Given the description of an element on the screen output the (x, y) to click on. 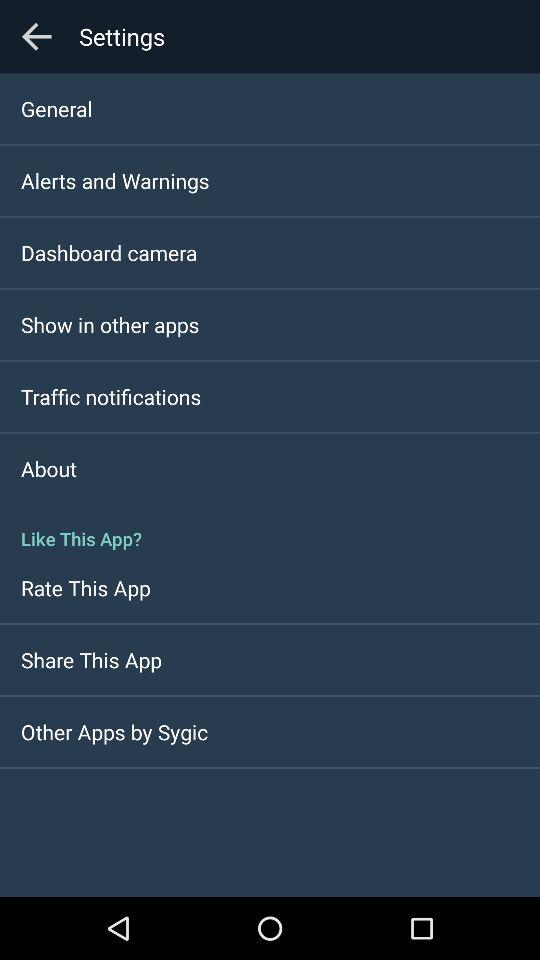
select app above the about (111, 396)
